Given the description of an element on the screen output the (x, y) to click on. 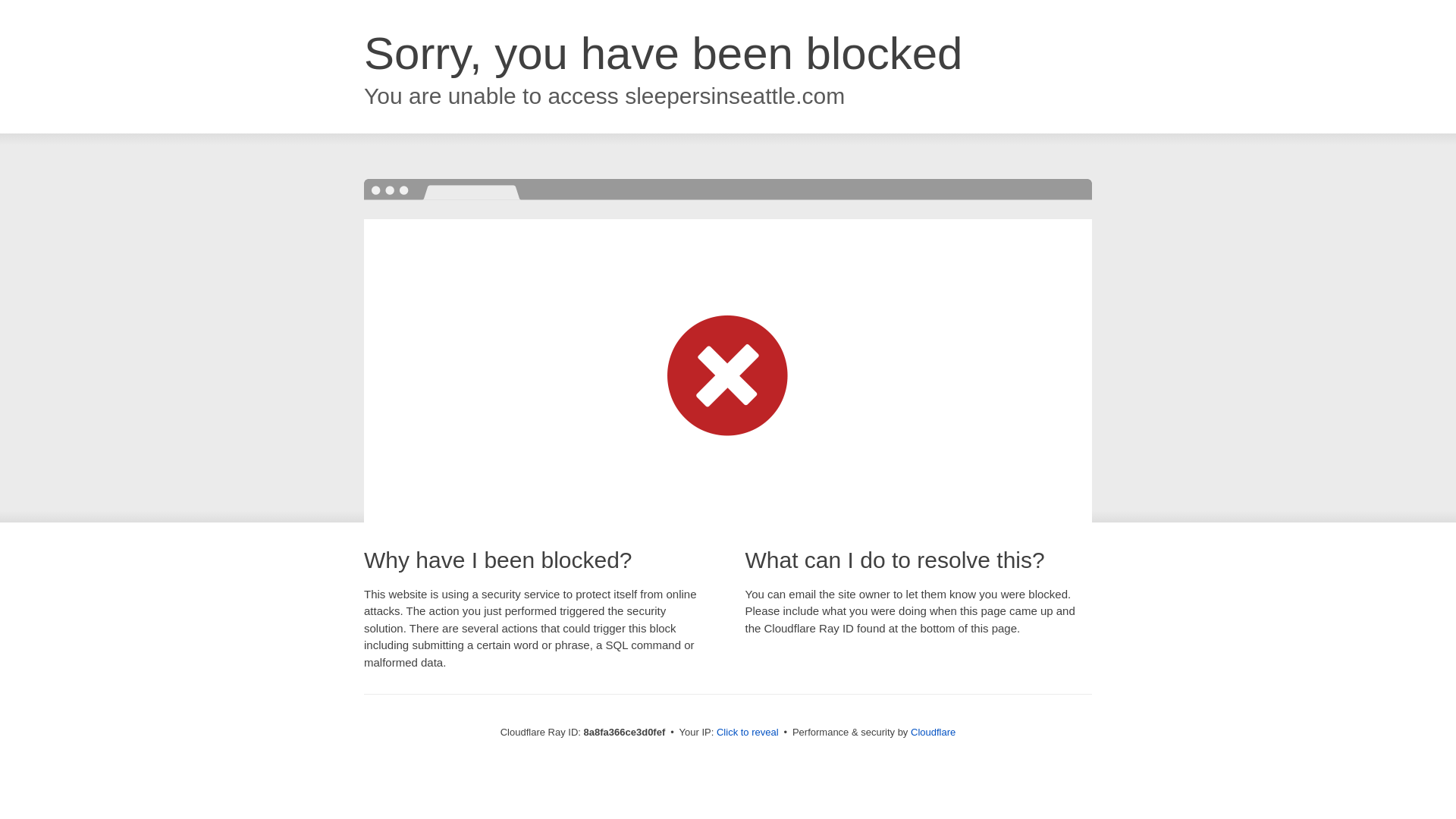
Click to reveal (747, 732)
Cloudflare (933, 731)
